Given the description of an element on the screen output the (x, y) to click on. 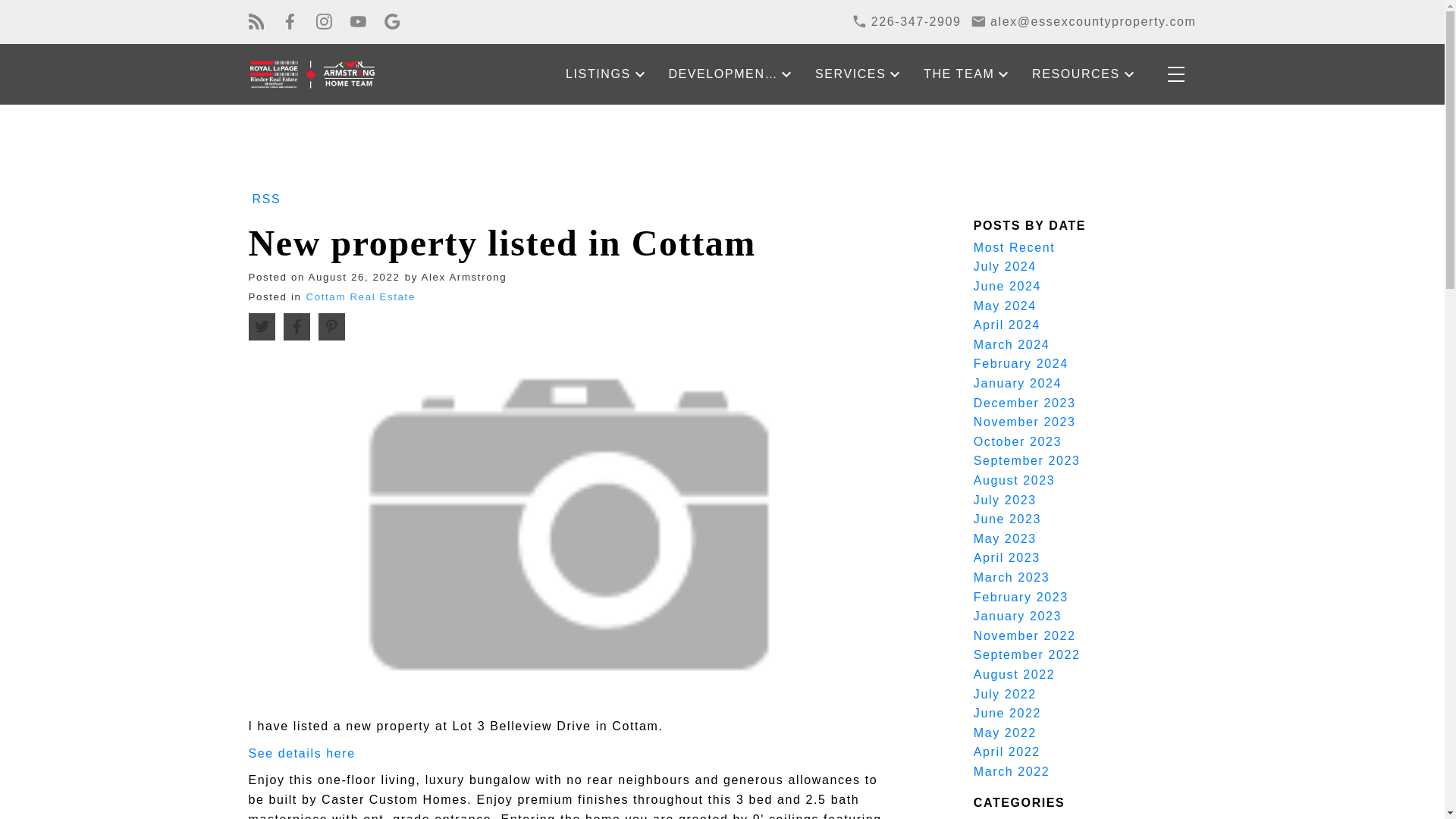
Facebook (290, 21)
Google Business (392, 21)
Blog (256, 21)
226-347-2909 (905, 21)
See details here (301, 753)
YouTube (358, 21)
RSS (266, 197)
July 2024 (1005, 266)
Most Recent (1014, 246)
Cottam Real Estate (359, 296)
June 2024 (1007, 286)
Instagram (323, 21)
